Given the description of an element on the screen output the (x, y) to click on. 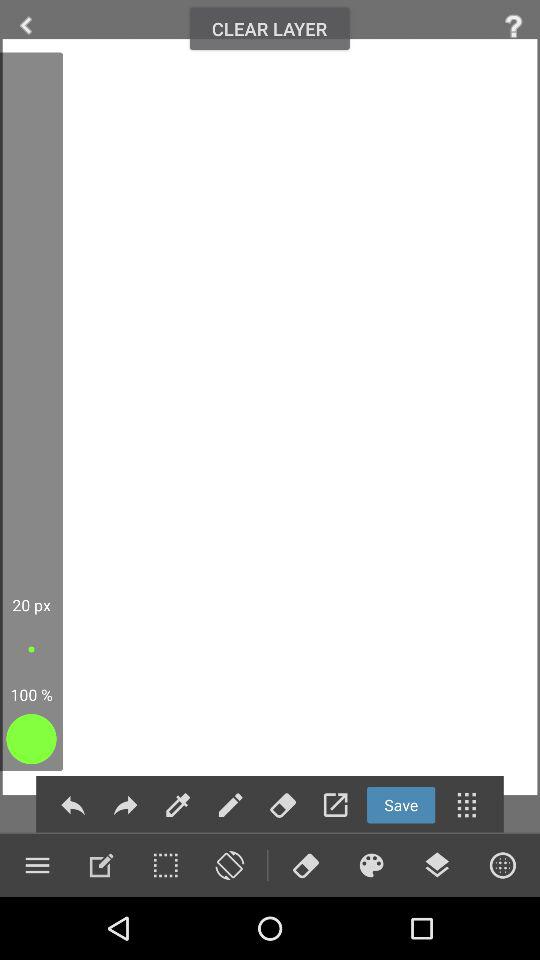
eyedrop tool (177, 804)
